Given the description of an element on the screen output the (x, y) to click on. 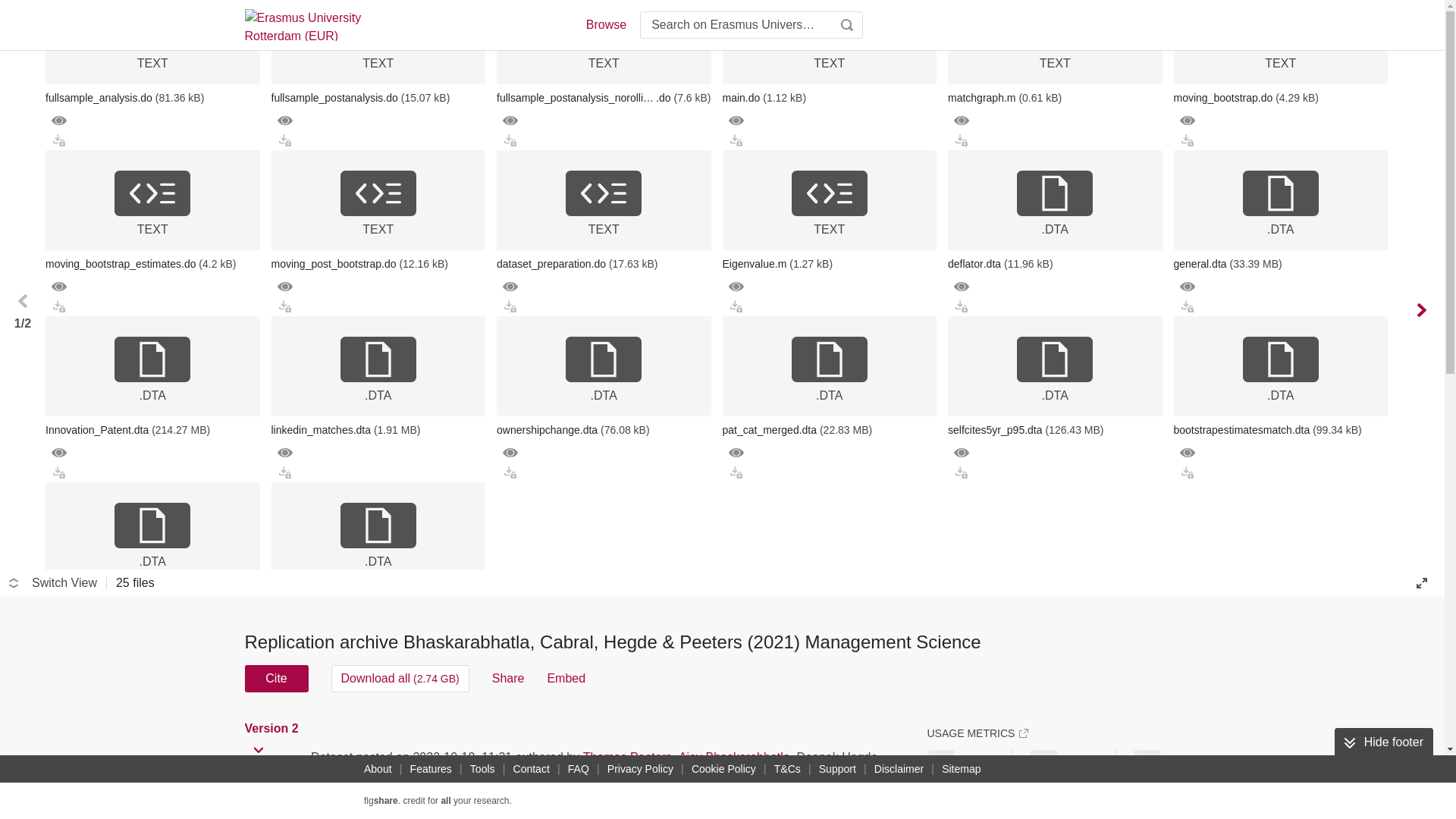
bootstrapestimatesmatch.dta (1281, 429)
Browse (605, 24)
matchgraph.m (1054, 96)
ownershipchange.dta (603, 429)
general.dta (1281, 263)
deflator.dta (1054, 263)
Eigenvalue.m (829, 263)
main.do (829, 96)
